Given the description of an element on the screen output the (x, y) to click on. 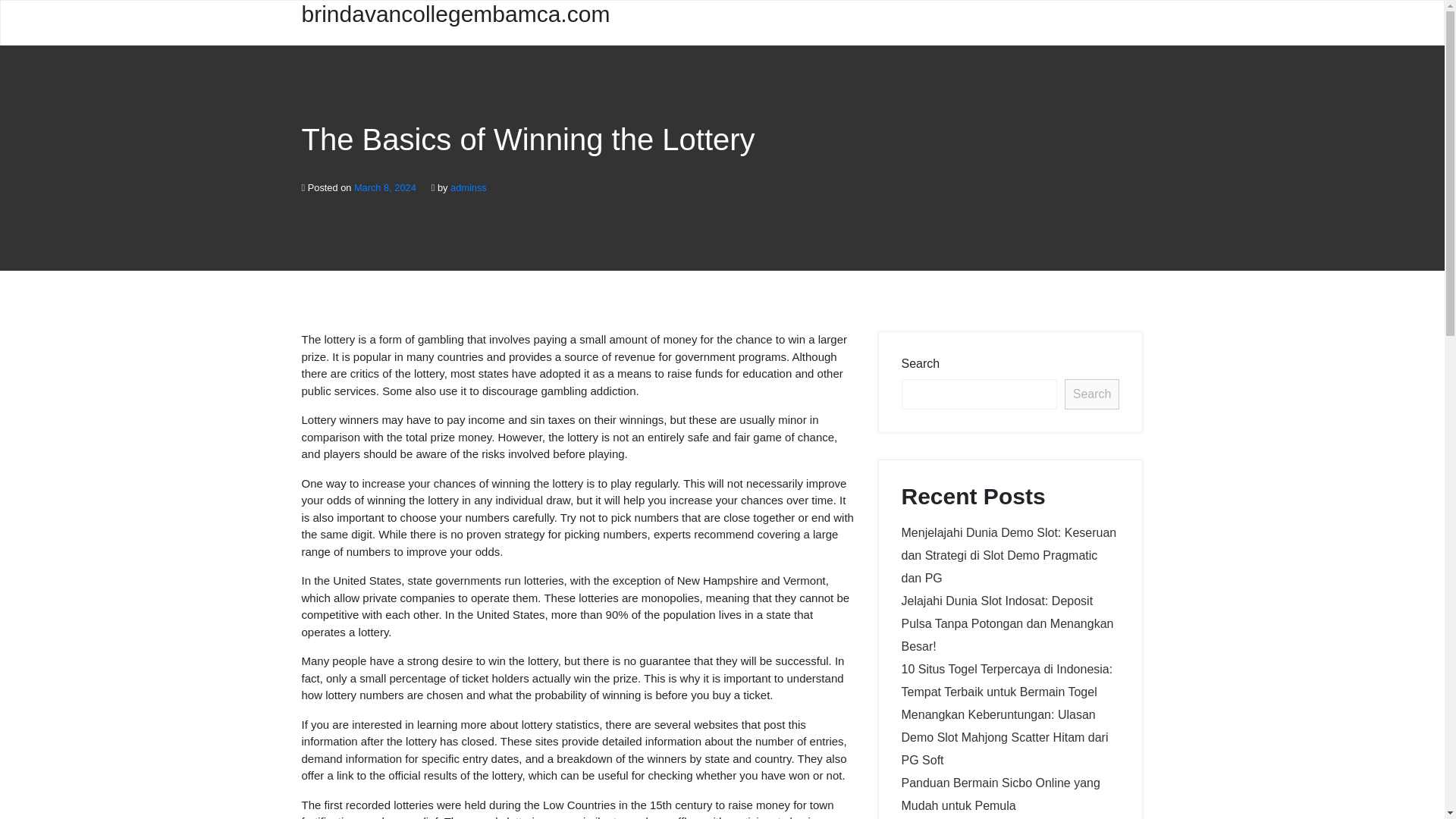
adminss (467, 187)
March 8, 2024 (384, 187)
Search (1091, 394)
brindavancollegembamca.com (400, 22)
Panduan Bermain Sicbo Online yang Mudah untuk Pemula (1000, 794)
